Given the description of an element on the screen output the (x, y) to click on. 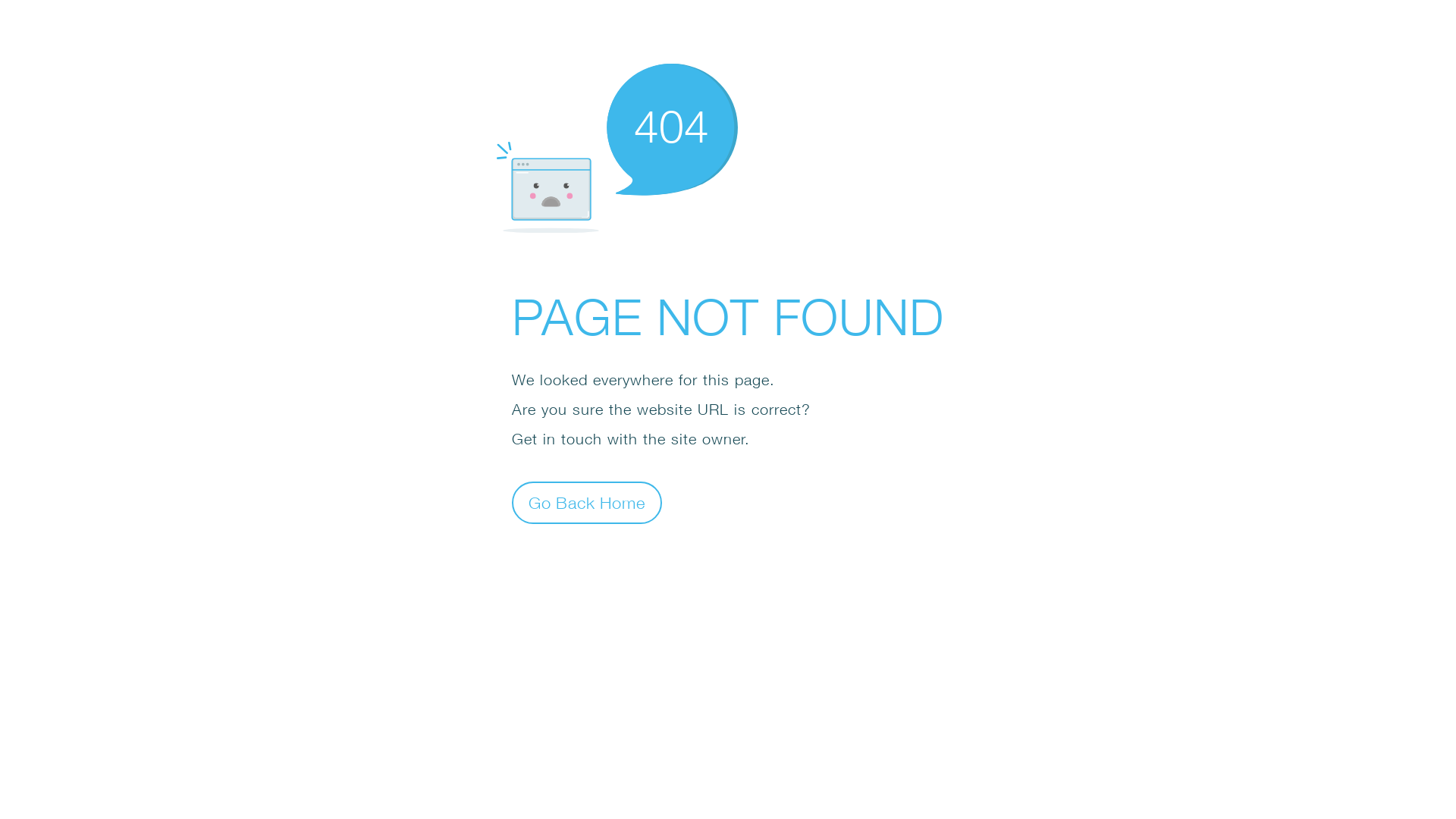
Go Back Home Element type: text (586, 502)
